Given the description of an element on the screen output the (x, y) to click on. 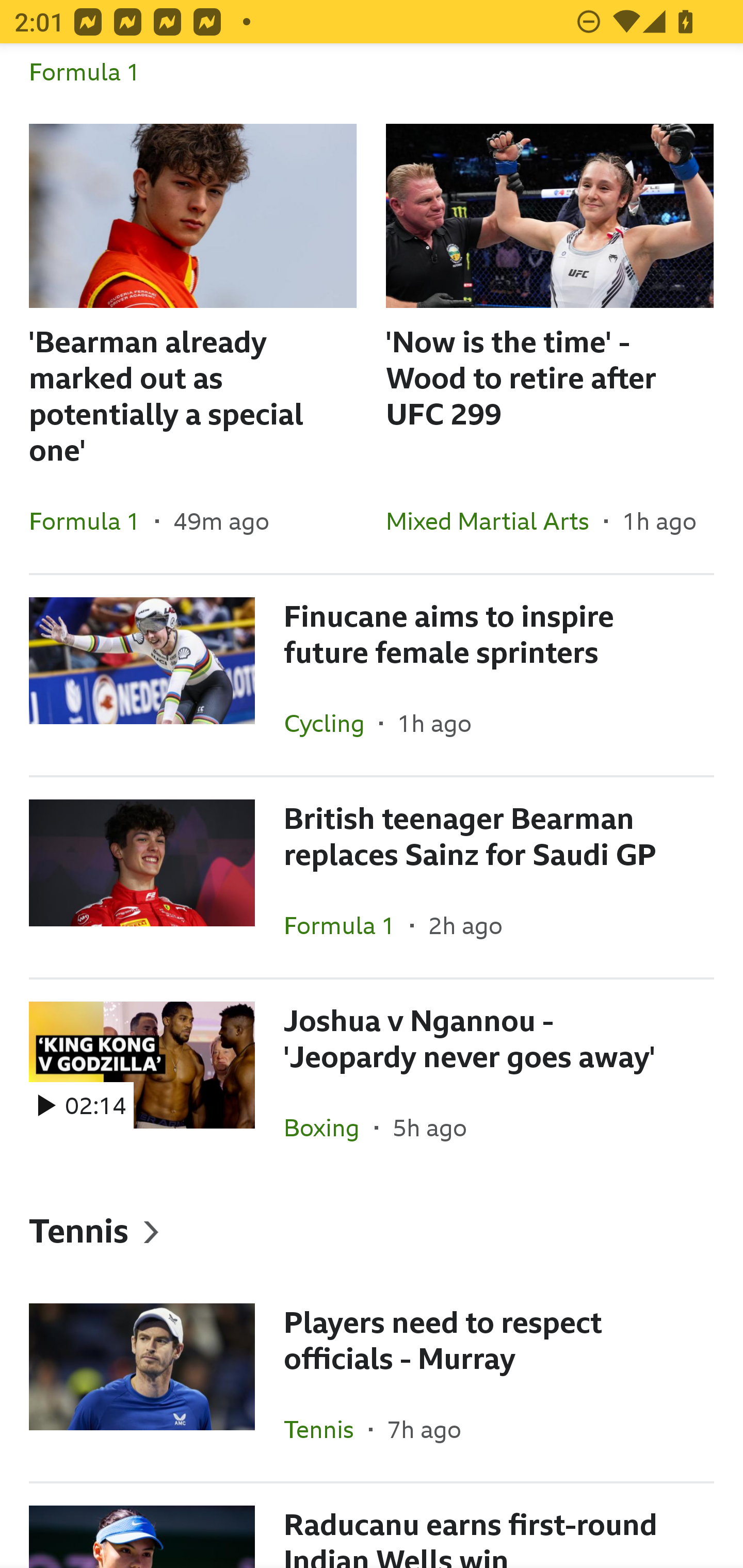
Formula 1 In the section Formula 1 (371, 83)
Tennis, Heading Tennis    (371, 1230)
